Given the description of an element on the screen output the (x, y) to click on. 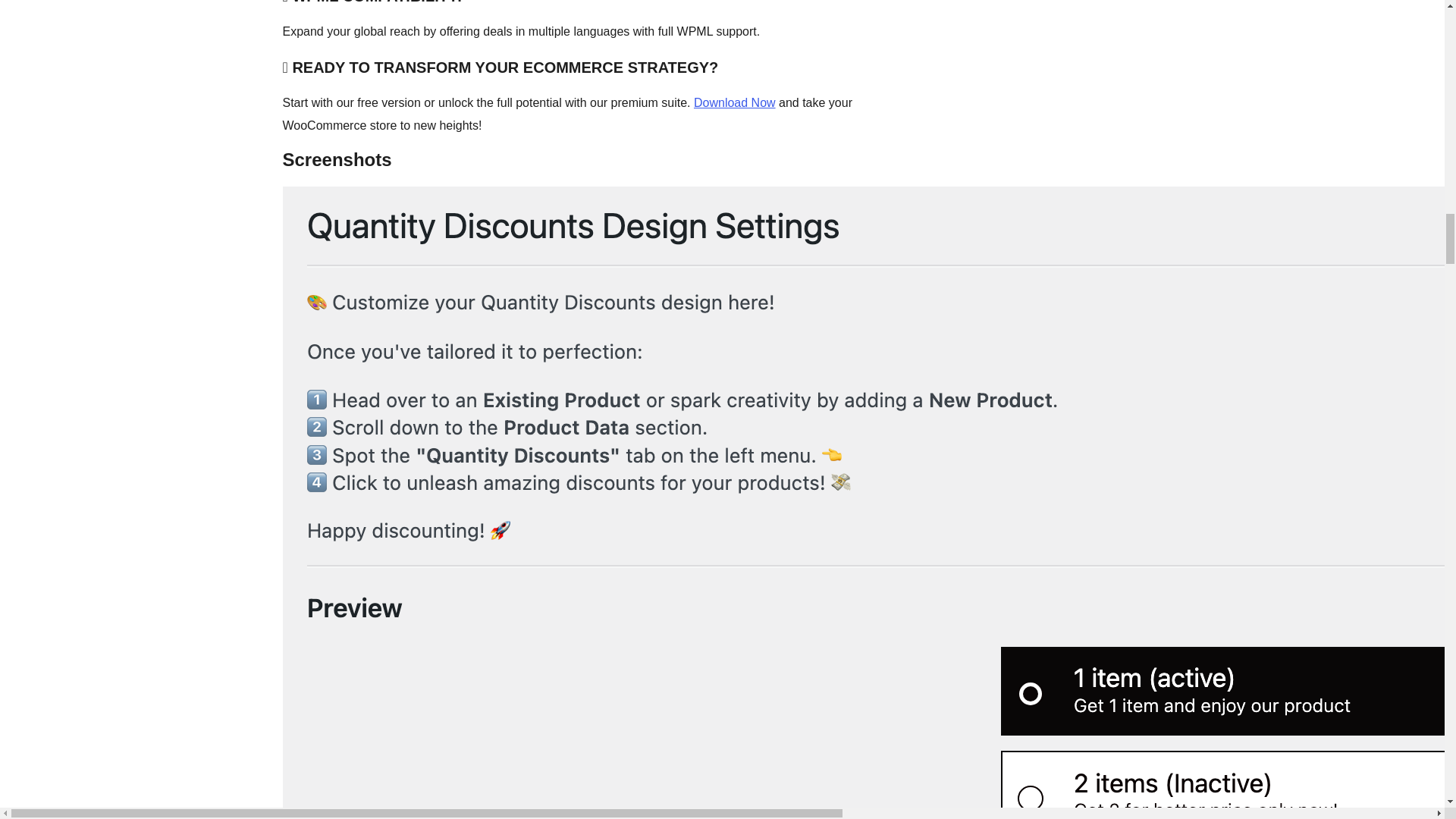
Download Now (735, 102)
